Given the description of an element on the screen output the (x, y) to click on. 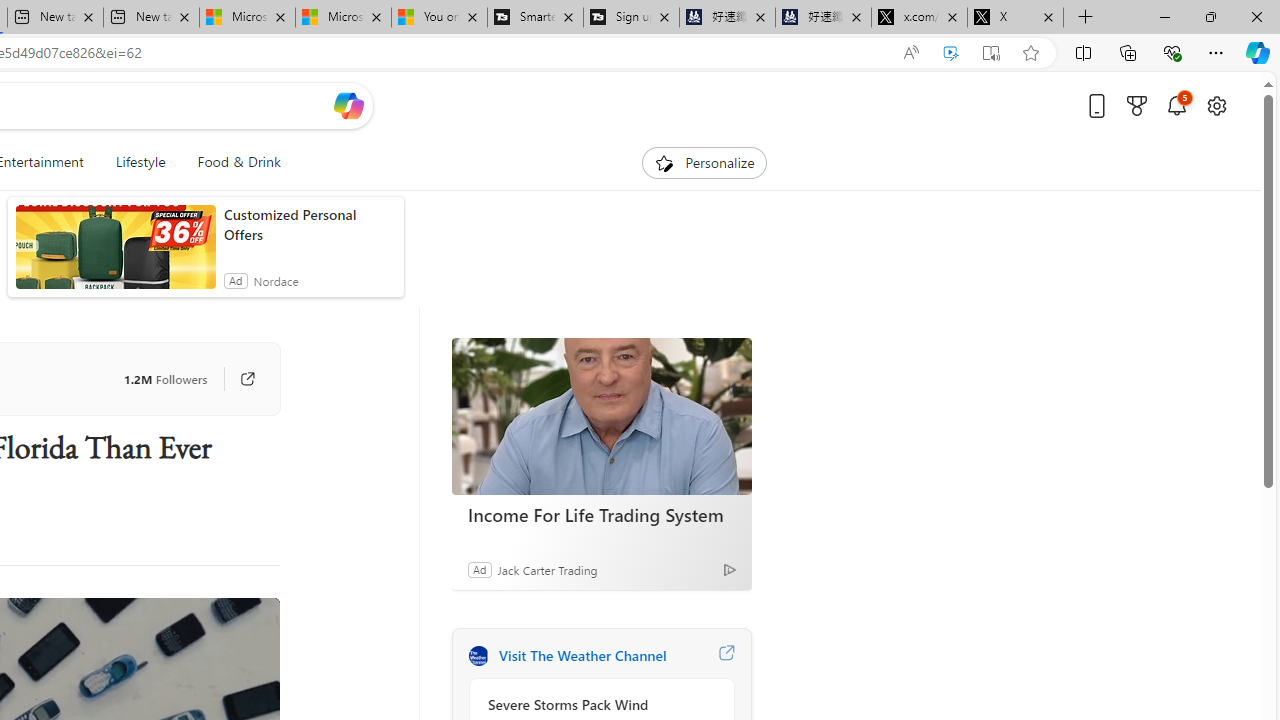
Food & Drink (230, 162)
